Given the description of an element on the screen output the (x, y) to click on. 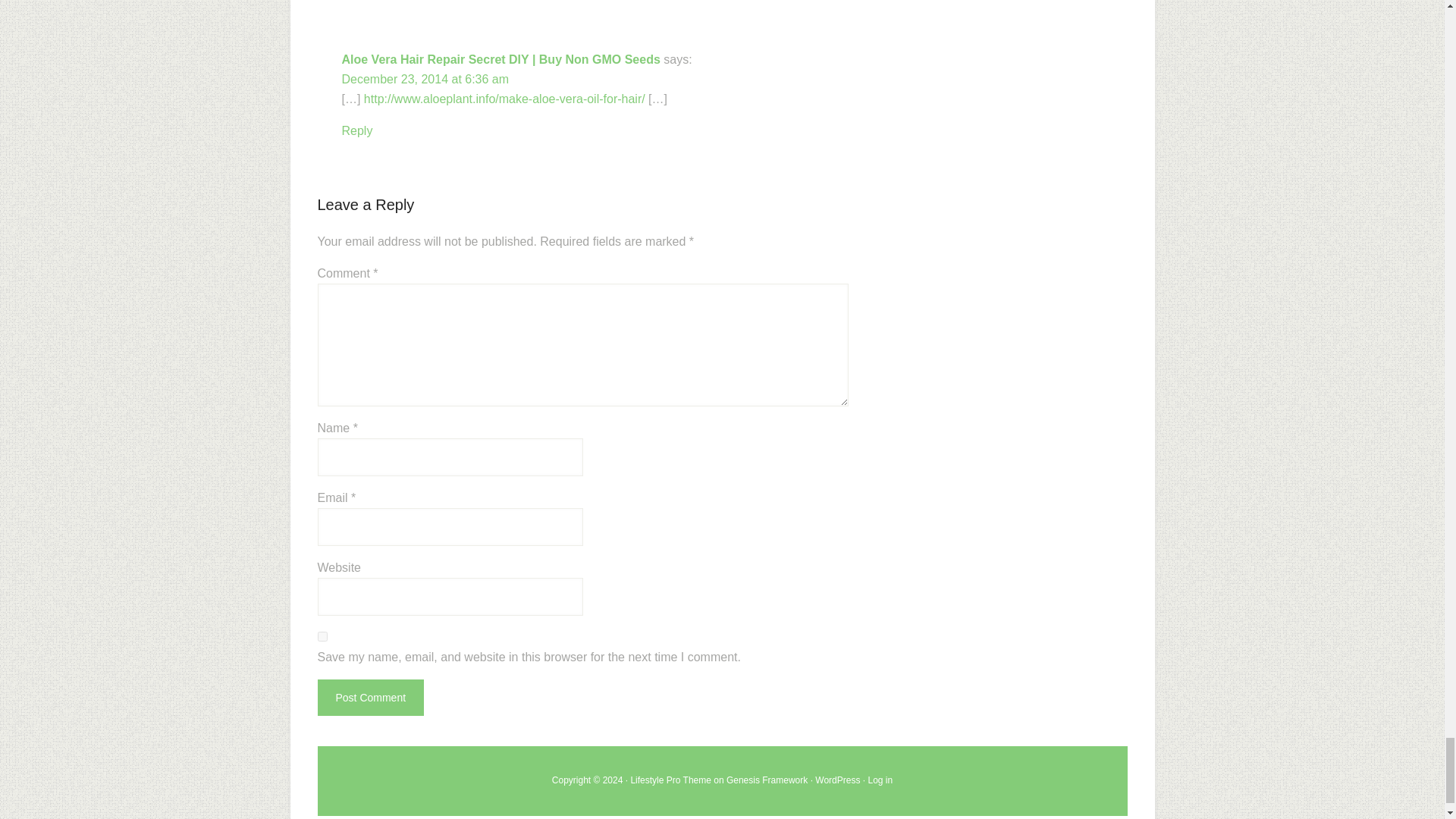
yes (321, 636)
Post Comment (370, 697)
